Given the description of an element on the screen output the (x, y) to click on. 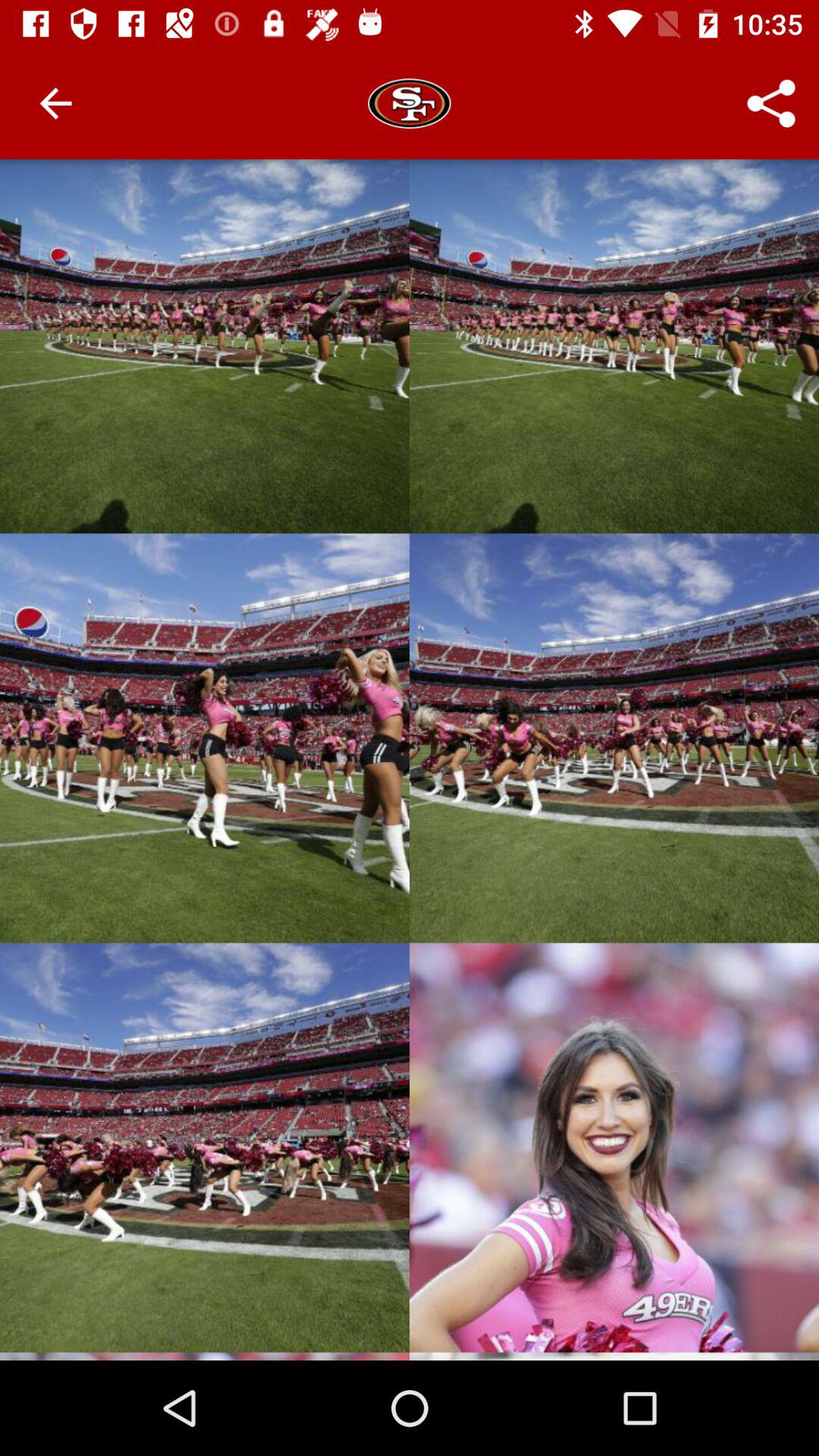
share (771, 103)
select the logo (409, 103)
click on the sixth image (614, 1147)
